Given the description of an element on the screen output the (x, y) to click on. 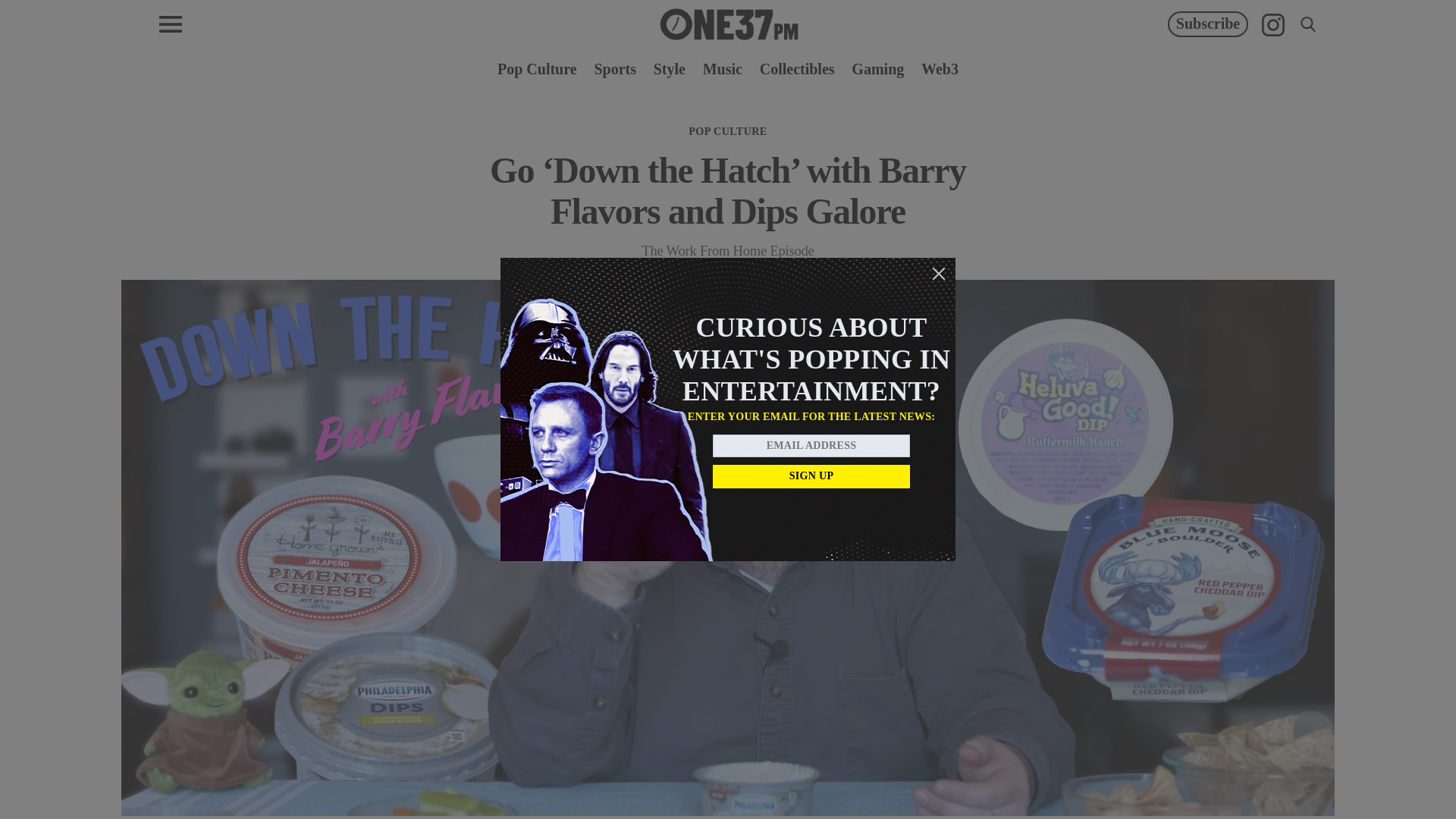
Pop Culture (536, 68)
POP CULTURE (727, 131)
Sports (615, 68)
Gaming (877, 68)
Collectibles (797, 68)
Music (722, 68)
Web3 (939, 68)
ONE37pm (728, 24)
Subscribe (1207, 23)
Style (669, 68)
